Given the description of an element on the screen output the (x, y) to click on. 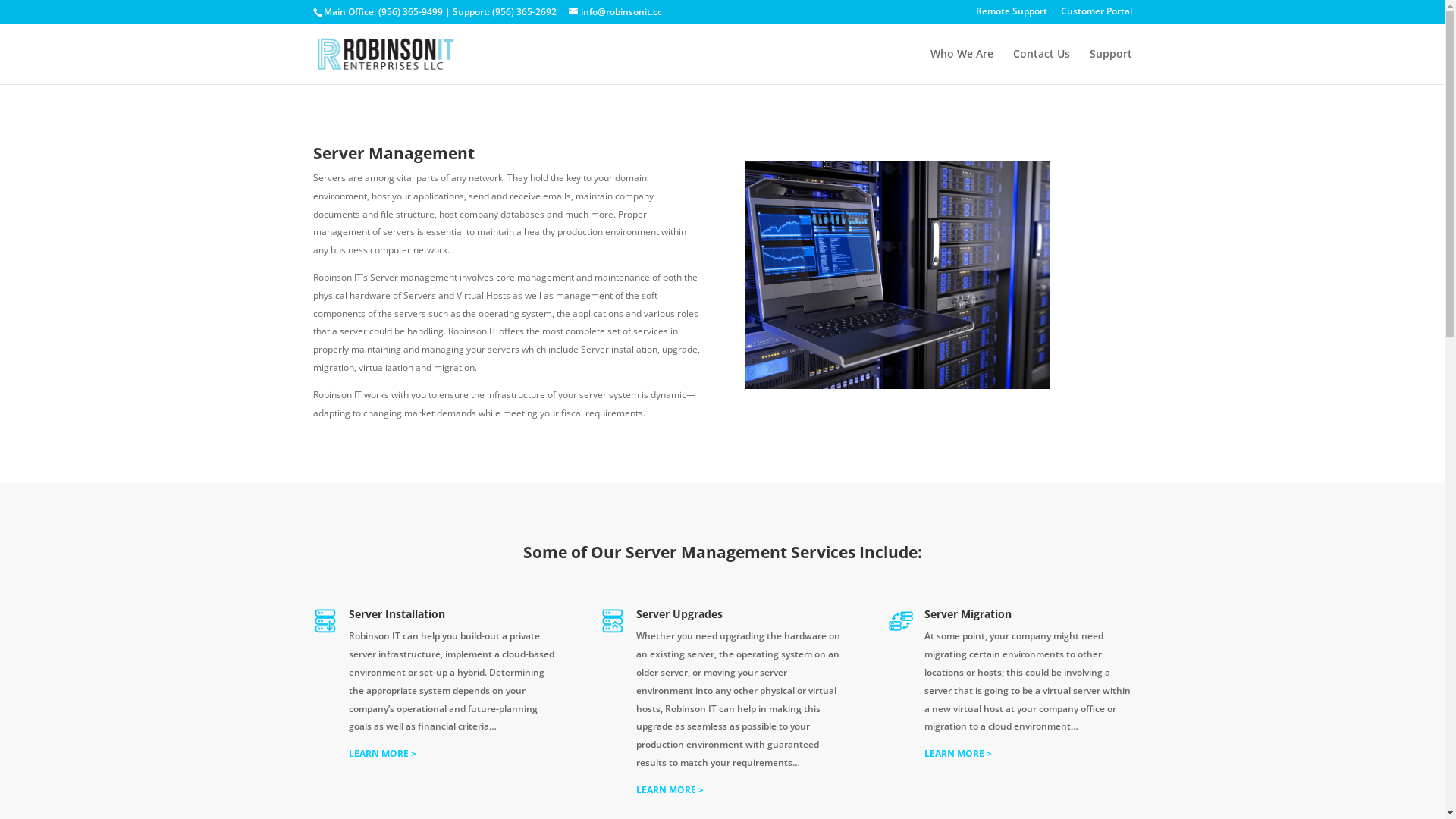
Support Element type: text (1109, 66)
LEARN MORE > Element type: text (382, 752)
Who We Are Element type: text (960, 66)
info@robinsonit.cc Element type: text (615, 11)
Customer Portal Element type: text (1095, 14)
Contact Us Element type: text (1041, 66)
LEARN MORE > Element type: text (957, 752)
Remote Support Element type: text (1010, 14)
LEARN MORE > Element type: text (669, 789)
